Given the description of an element on the screen output the (x, y) to click on. 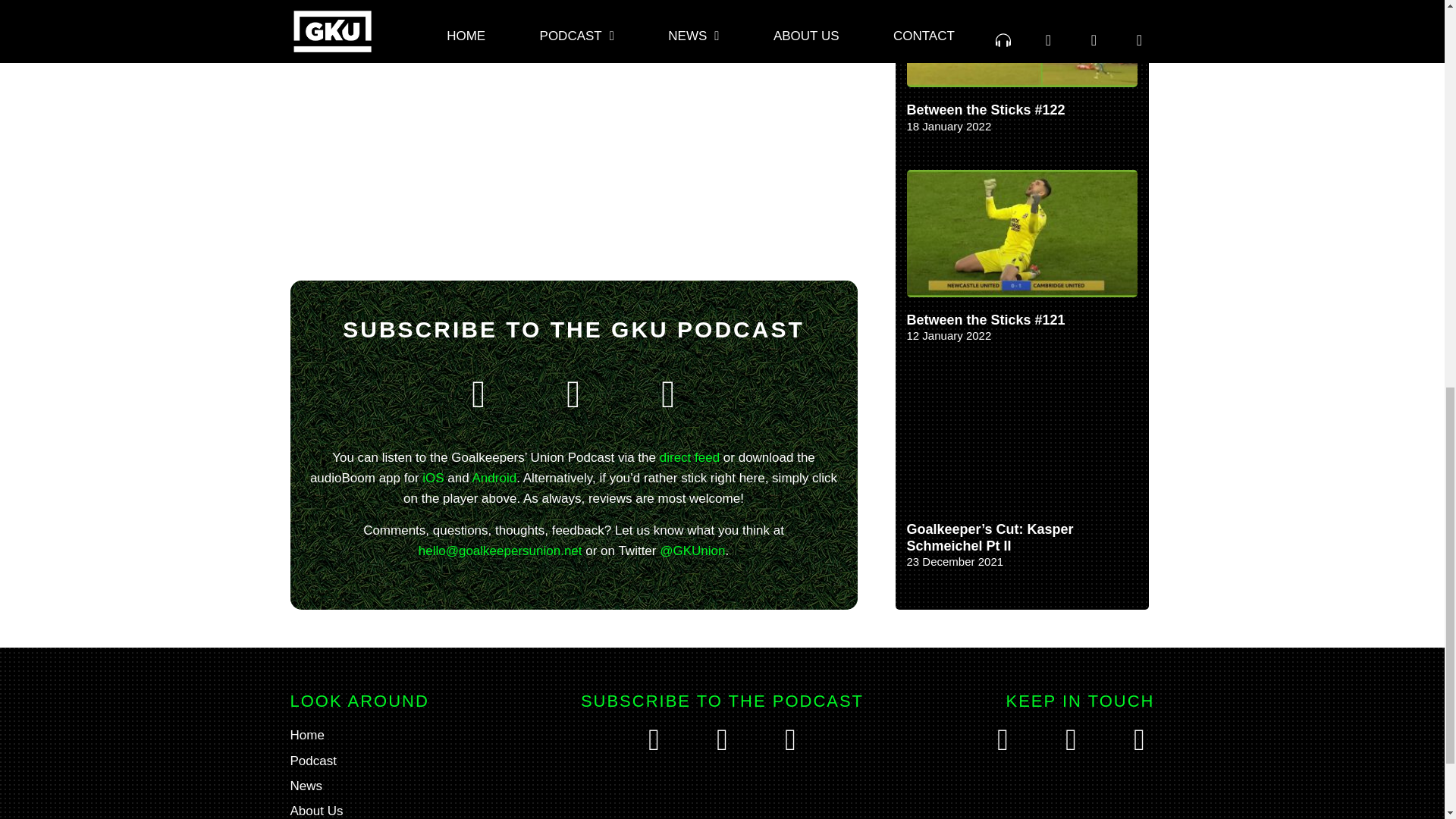
Audioboom player (555, 139)
